Given the description of an element on the screen output the (x, y) to click on. 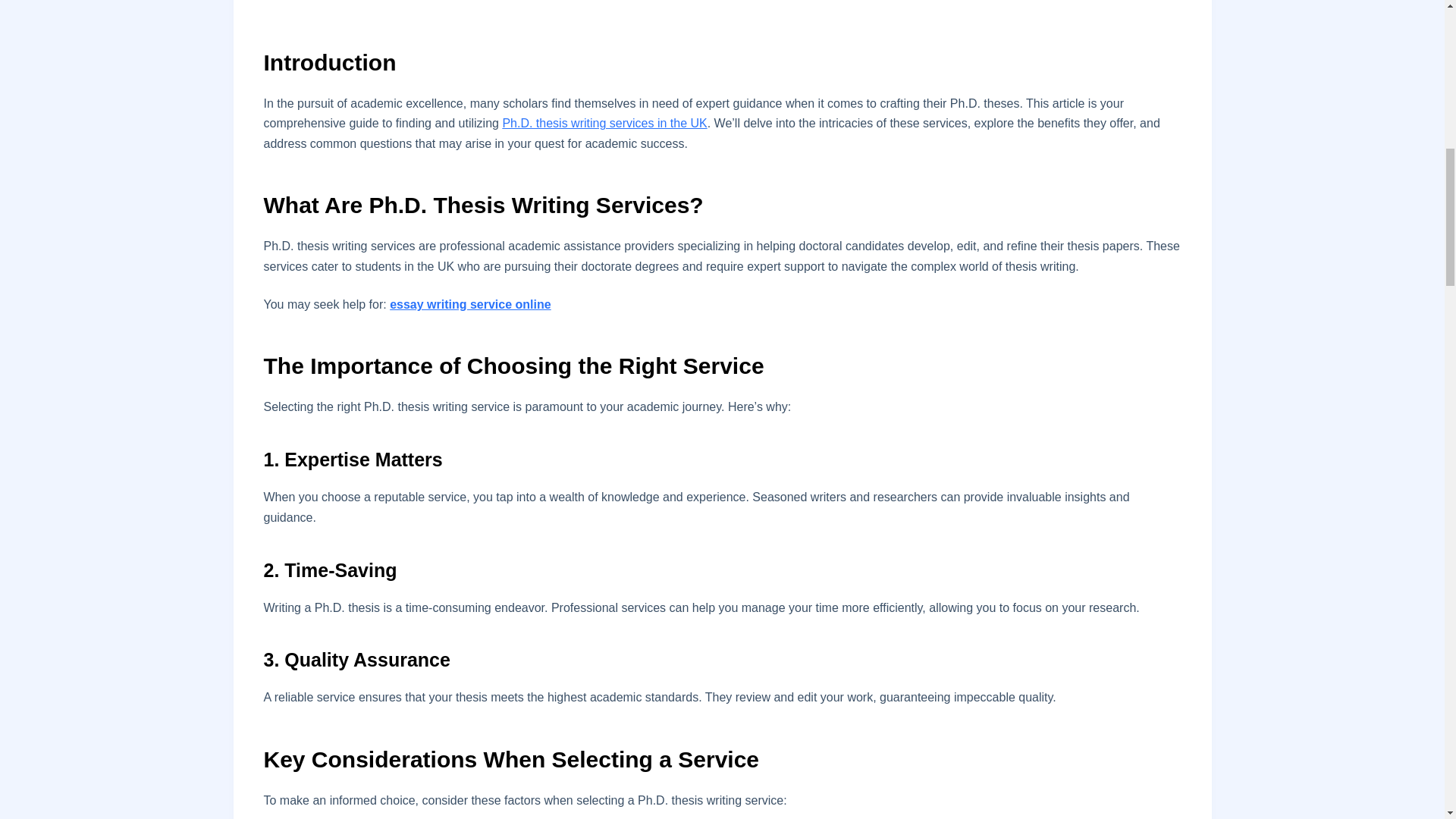
essay writing service online (470, 304)
Ph.D. thesis writing services in the UK (604, 123)
